Given the description of an element on the screen output the (x, y) to click on. 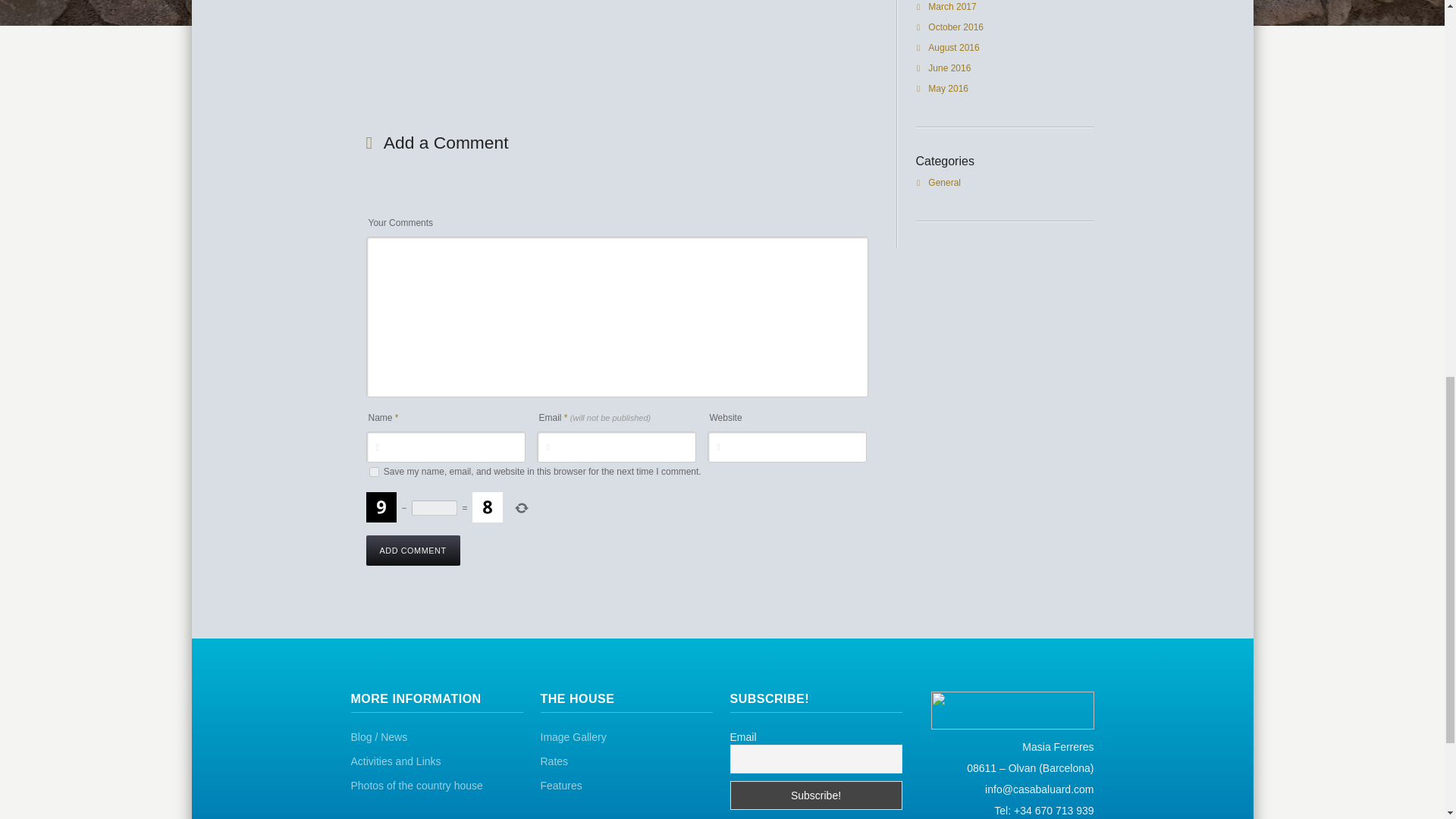
Subscribe! (815, 795)
yes (373, 471)
Add Comment (412, 550)
Add Comment (412, 550)
